Given the description of an element on the screen output the (x, y) to click on. 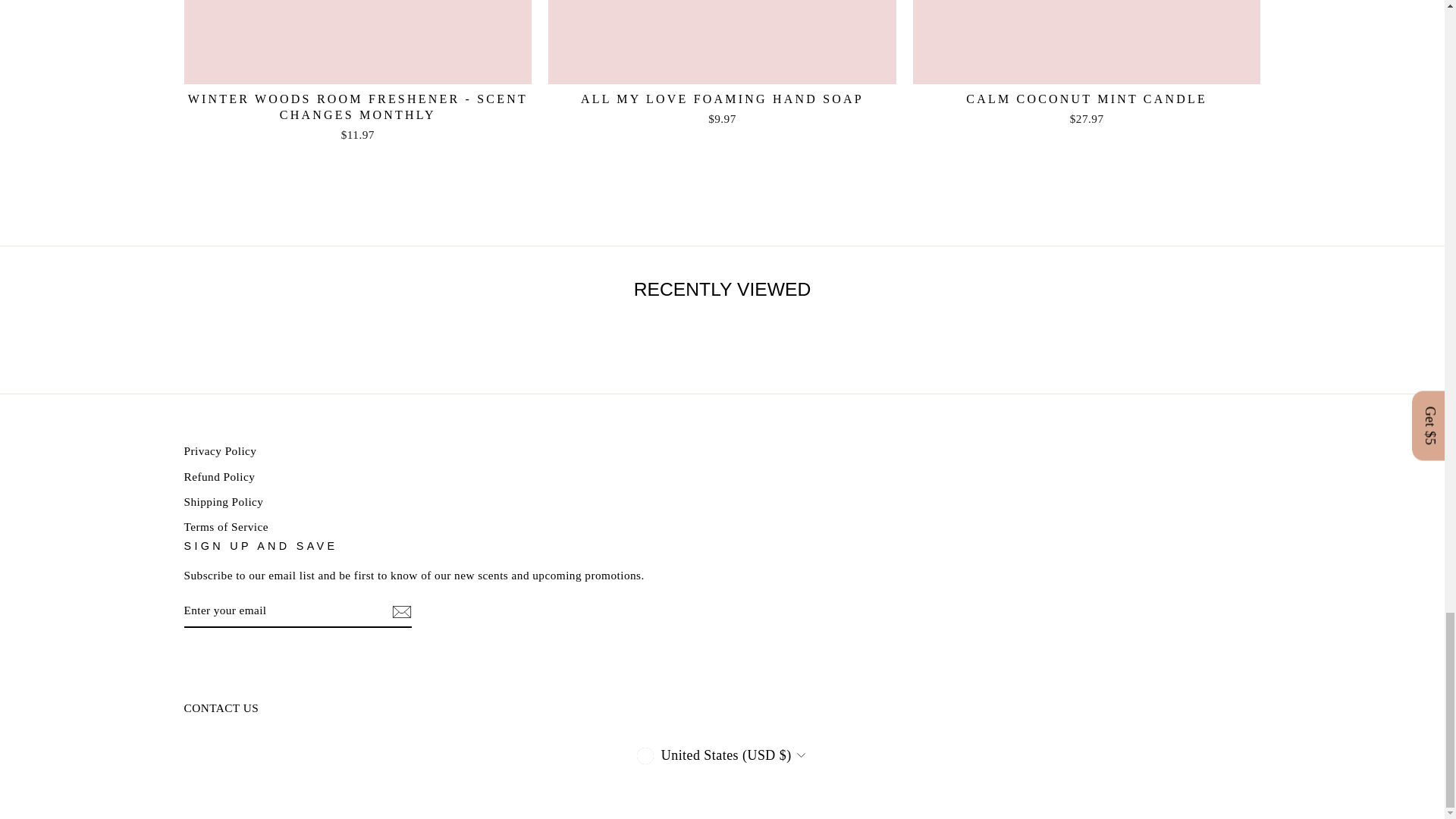
icon-email (400, 611)
